Given the description of an element on the screen output the (x, y) to click on. 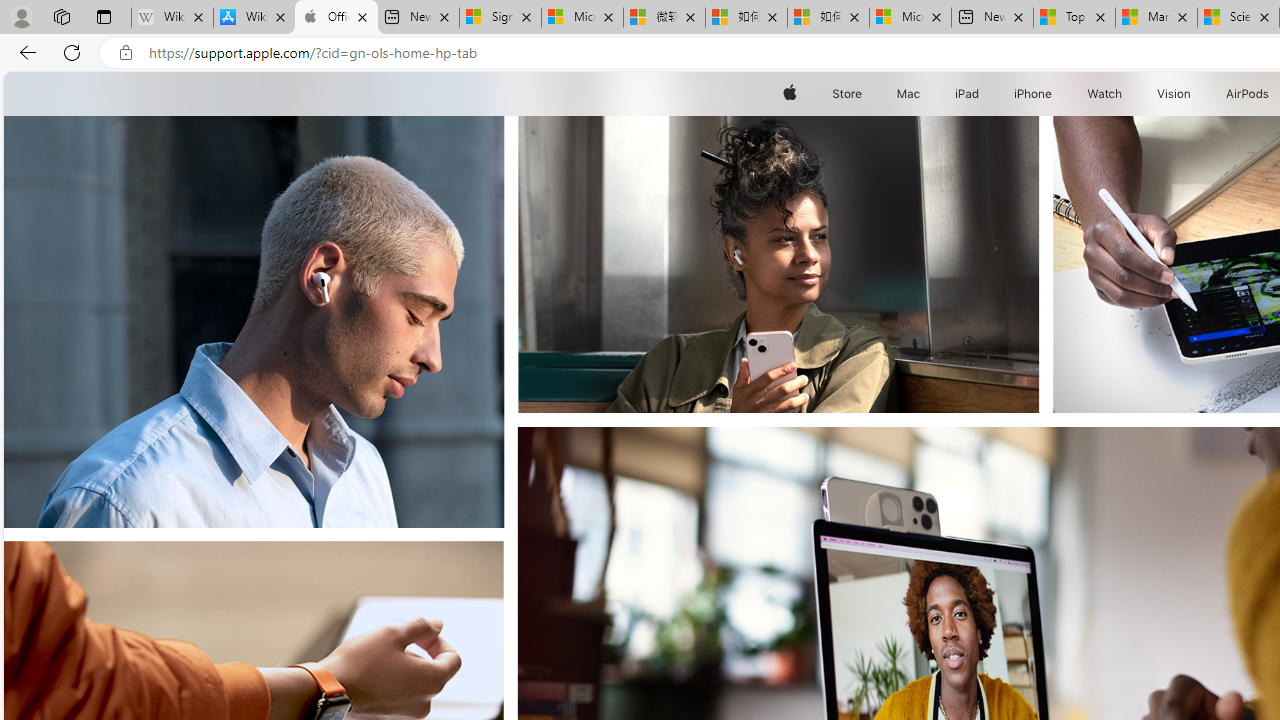
Class: globalnav-submenu-trigger-item (1195, 93)
Watch menu (1125, 93)
iPad menu (982, 93)
Official Apple Support (336, 17)
